Given the description of an element on the screen output the (x, y) to click on. 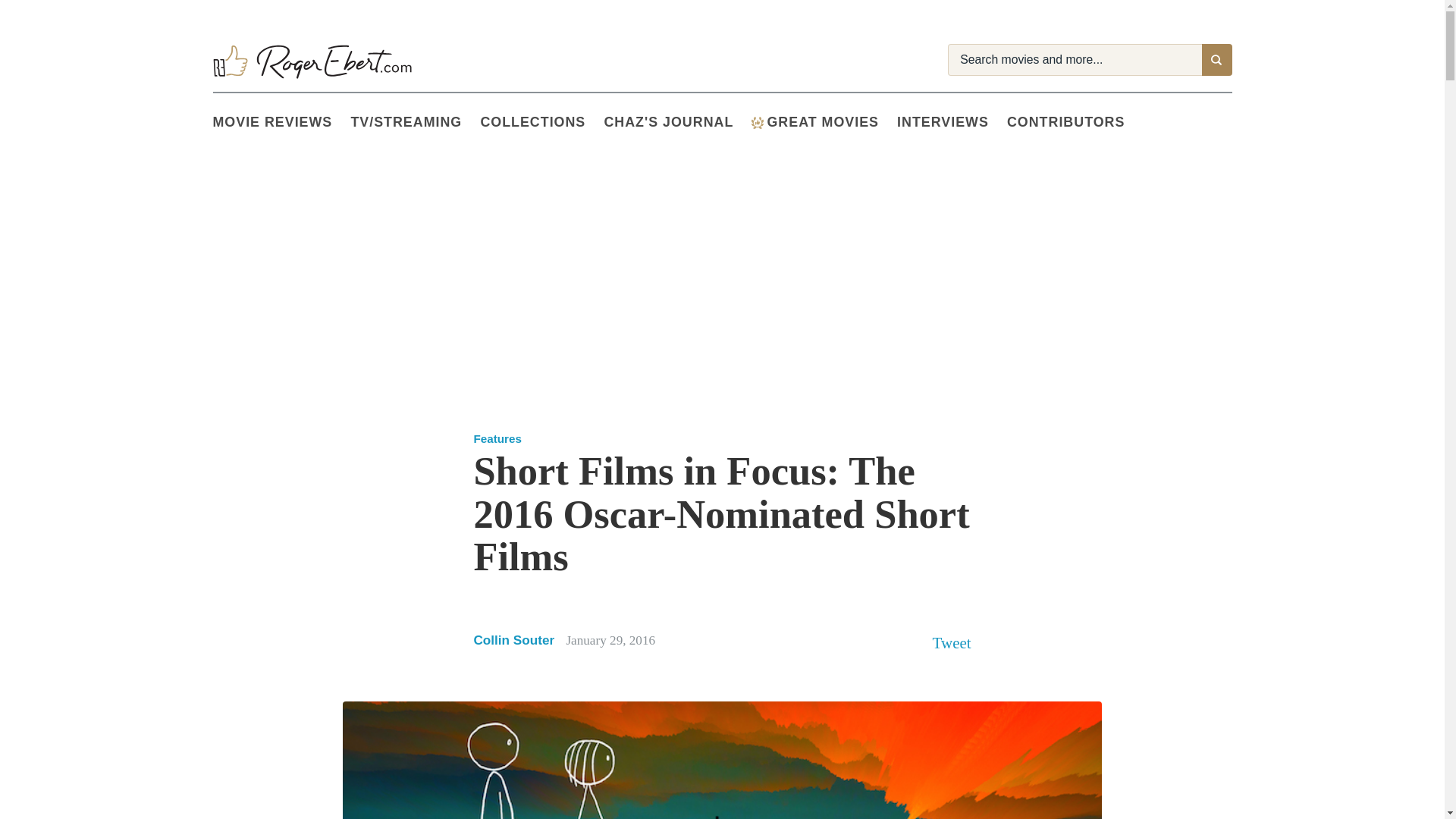
Search (1216, 60)
Great Movies (823, 122)
CHAZ'S JOURNAL (677, 122)
Collections (542, 122)
Movie Reviews (281, 122)
Features (497, 438)
INTERVIEWS (951, 122)
Interviews (951, 122)
Chaz's Journal (677, 122)
Collin Souter (513, 639)
COLLECTIONS (542, 122)
MOVIE REVIEWS (281, 122)
Contributors (1074, 122)
CONTRIBUTORS (1074, 122)
GREAT MOVIES (823, 122)
